Given the description of an element on the screen output the (x, y) to click on. 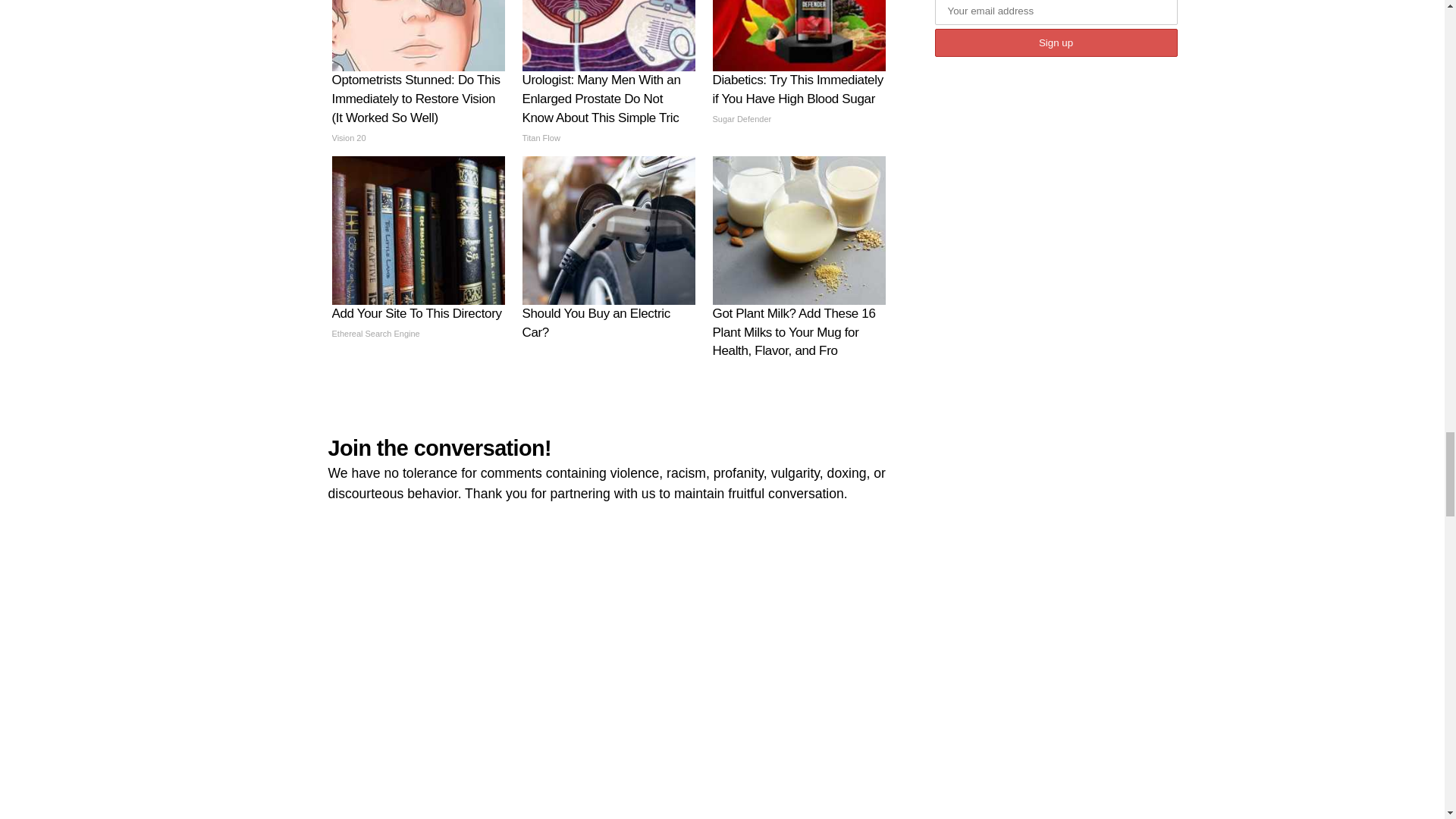
Sign up (1055, 42)
